Given the description of an element on the screen output the (x, y) to click on. 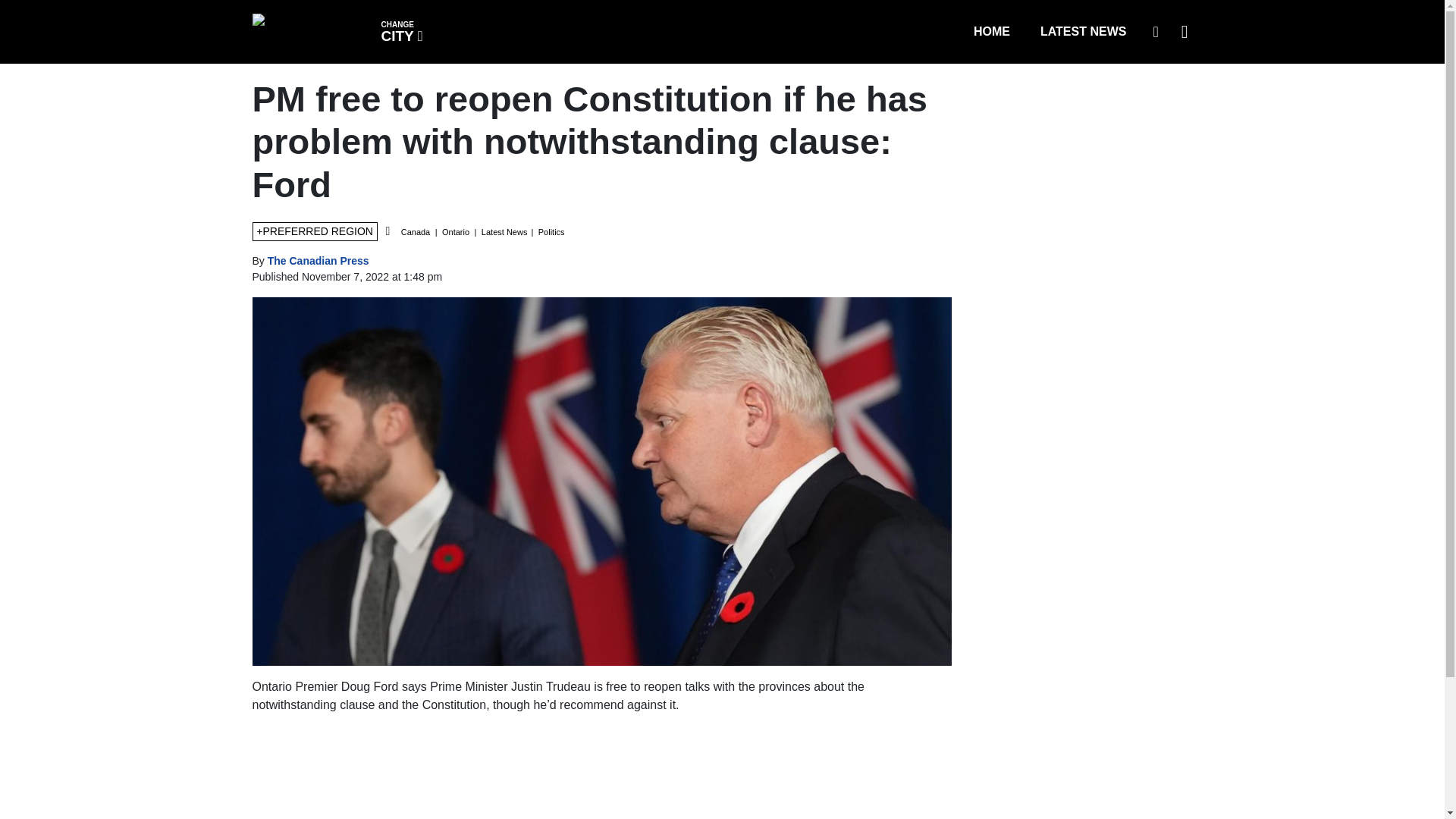
HOME (991, 31)
LATEST NEWS (400, 30)
SIGN UP FOR OUR NEWSLETTER (1083, 31)
Posts by 949 (1155, 31)
